Given the description of an element on the screen output the (x, y) to click on. 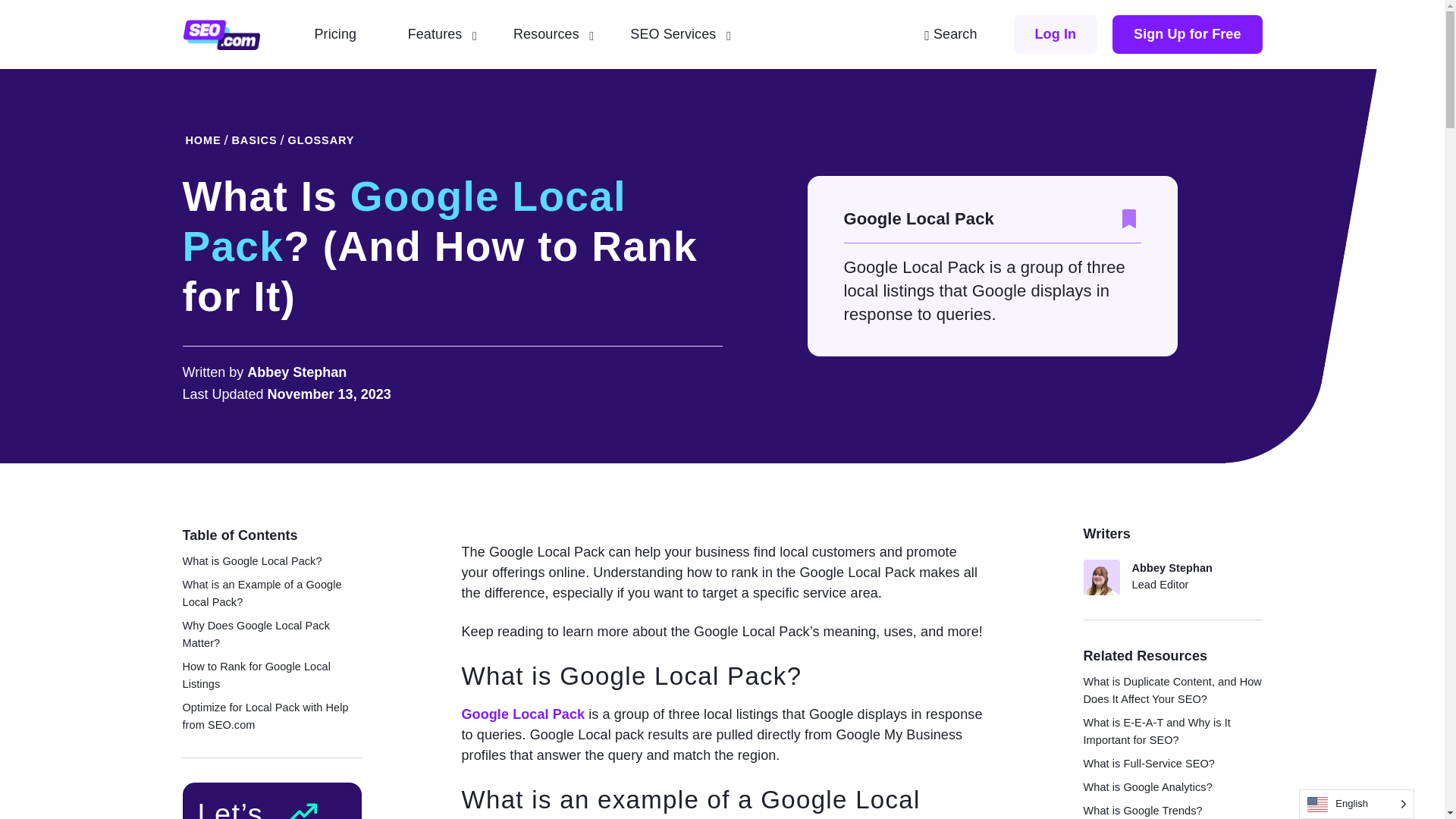
Resources (553, 34)
Features (442, 34)
SEO Services (680, 34)
Pricing (341, 34)
